Given the description of an element on the screen output the (x, y) to click on. 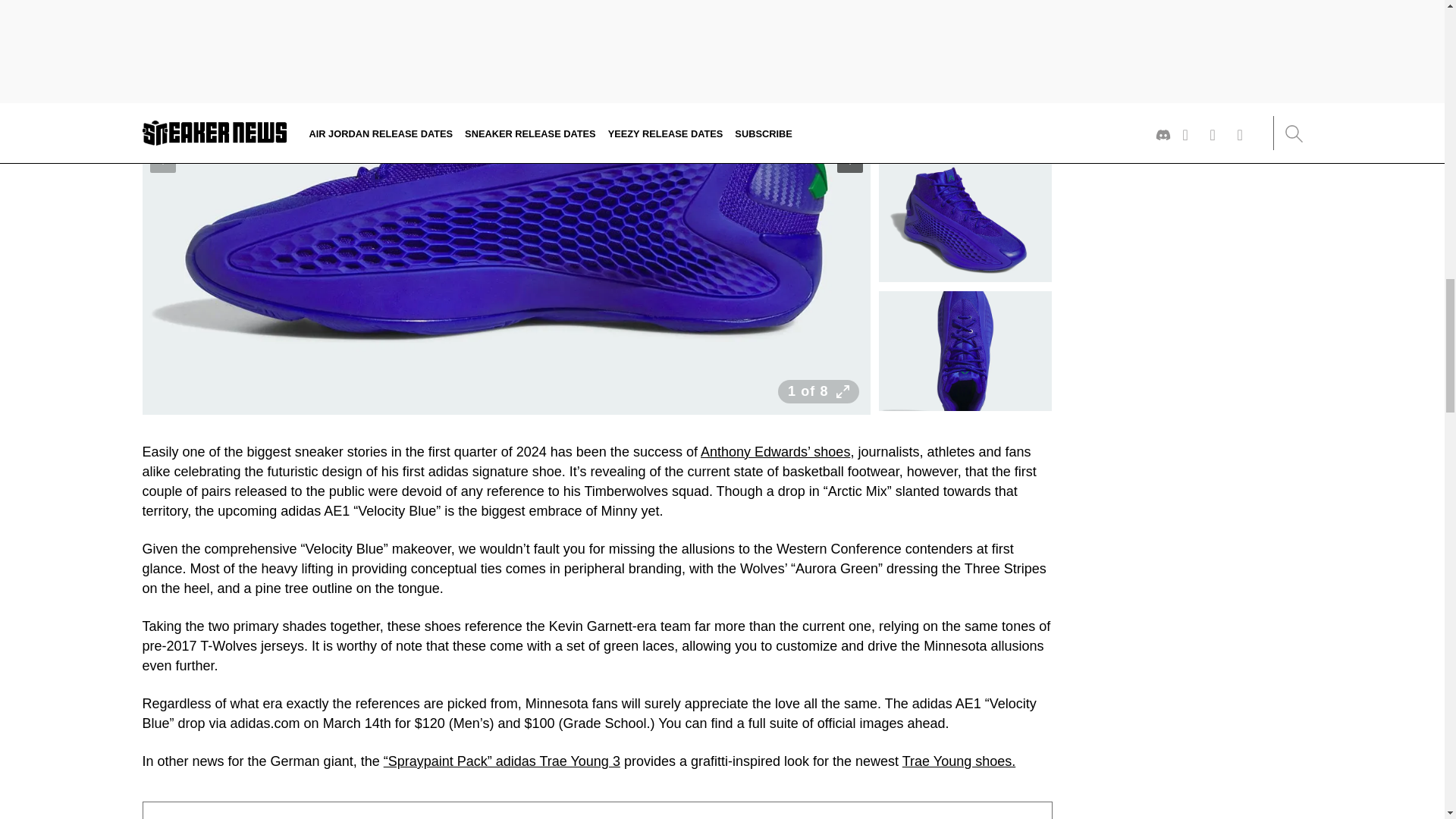
Previous (162, 159)
Next (850, 159)
Trae Young shoes. (958, 761)
